Given the description of an element on the screen output the (x, y) to click on. 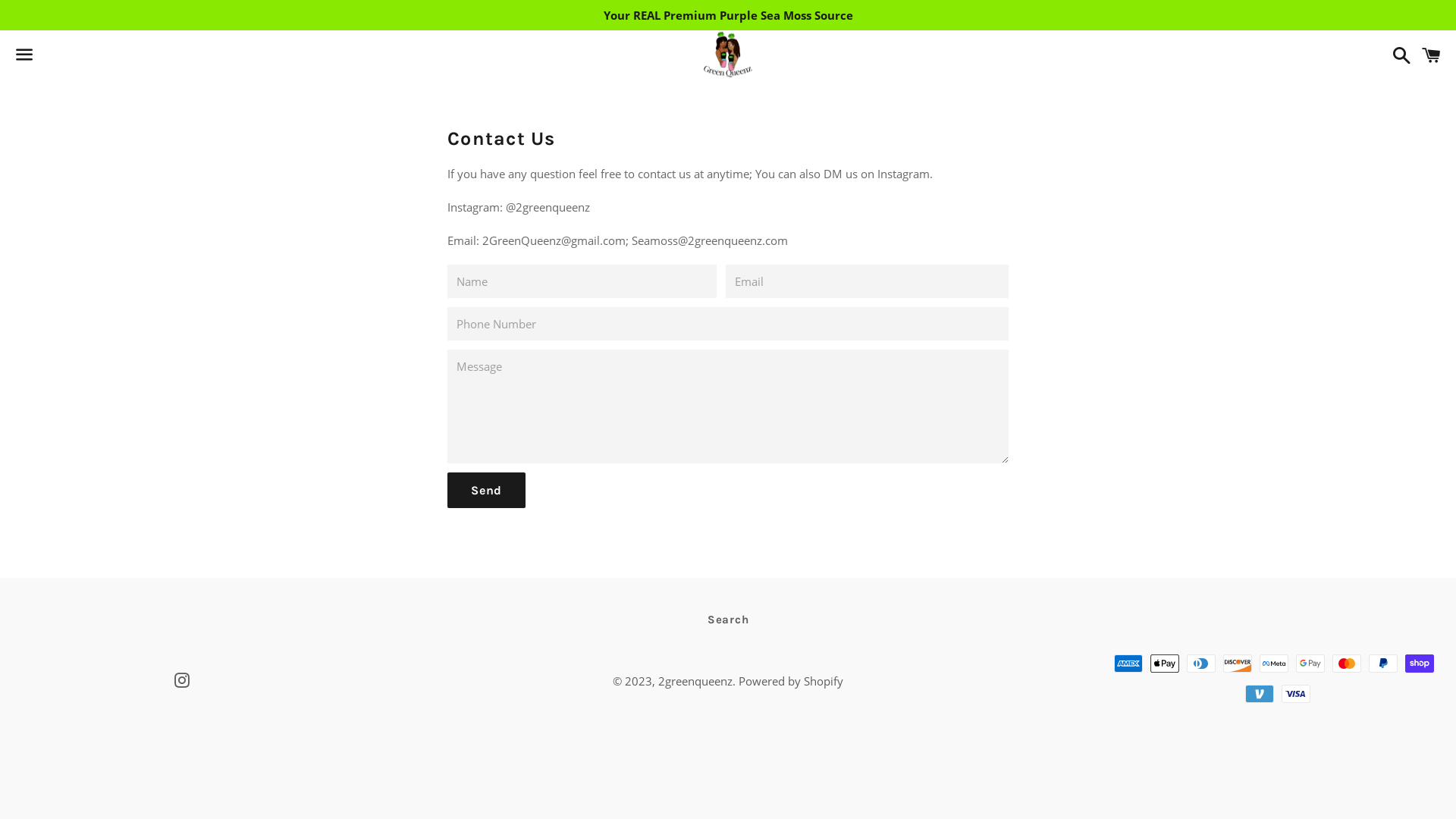
Instagram Element type: text (181, 681)
2greenqueenz Element type: text (695, 680)
Powered by Shopify Element type: text (790, 680)
Search Element type: text (728, 619)
Menu Element type: text (24, 54)
Send Element type: text (486, 490)
Search Element type: text (1397, 54)
Cart Element type: text (1431, 54)
